Given the description of an element on the screen output the (x, y) to click on. 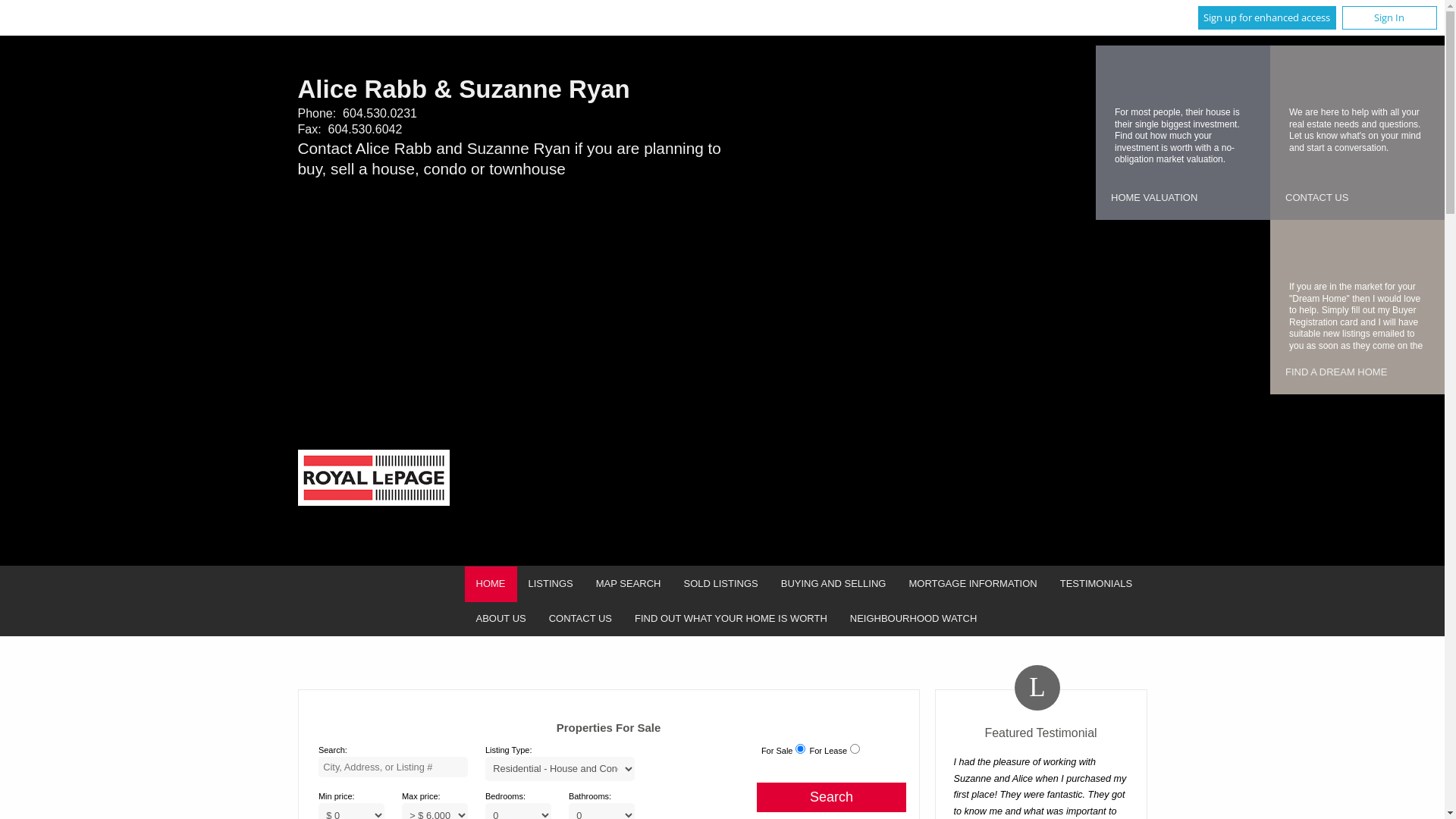
BUYING AND SELLING Element type: text (833, 584)
ABOUT US Element type: text (500, 619)
Search Element type: text (831, 797)
contact-us Element type: hover (1300, 75)
FIND A DREAM HOME Element type: text (1335, 372)
find-a-dream-home Element type: hover (1300, 249)
NEIGHBOURHOOD WATCH Element type: text (913, 619)
home-valuation Element type: hover (1125, 75)
HOME VALUATION Element type: text (1153, 197)
HOME Element type: text (490, 584)
TESTIMONIALS Element type: text (1095, 584)
MAP SEARCH Element type: text (628, 584)
MORTGAGE INFORMATION Element type: text (972, 584)
CONTACT US Element type: text (580, 619)
Home Element type: hover (372, 479)
CONTACT US Element type: text (1316, 197)
SOLD LISTINGS Element type: text (719, 584)
LISTINGS Element type: text (550, 584)
FIND OUT WHAT YOUR HOME IS WORTH Element type: text (730, 619)
